Given the description of an element on the screen output the (x, y) to click on. 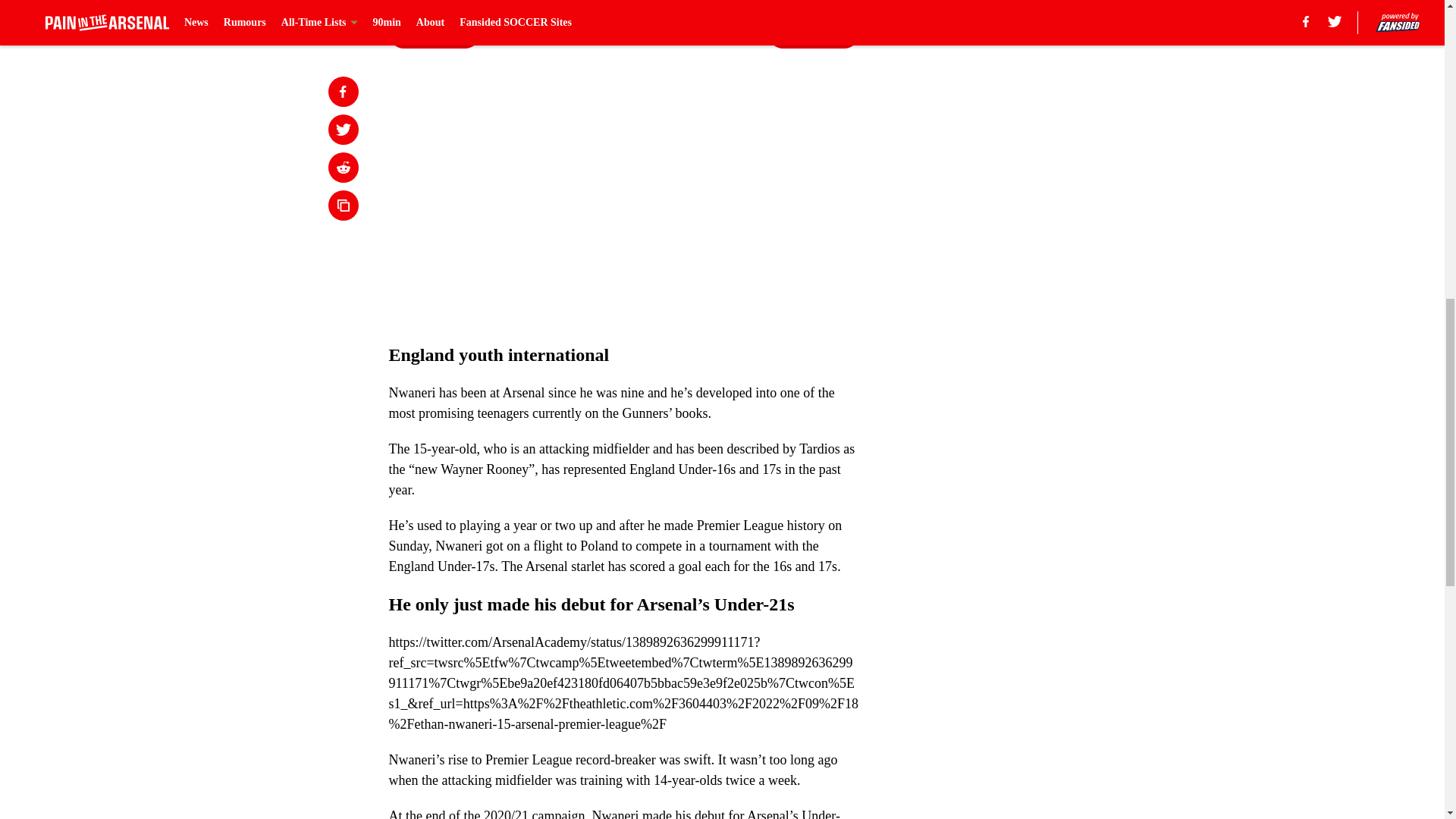
Prev (433, 33)
Next (813, 33)
